Given the description of an element on the screen output the (x, y) to click on. 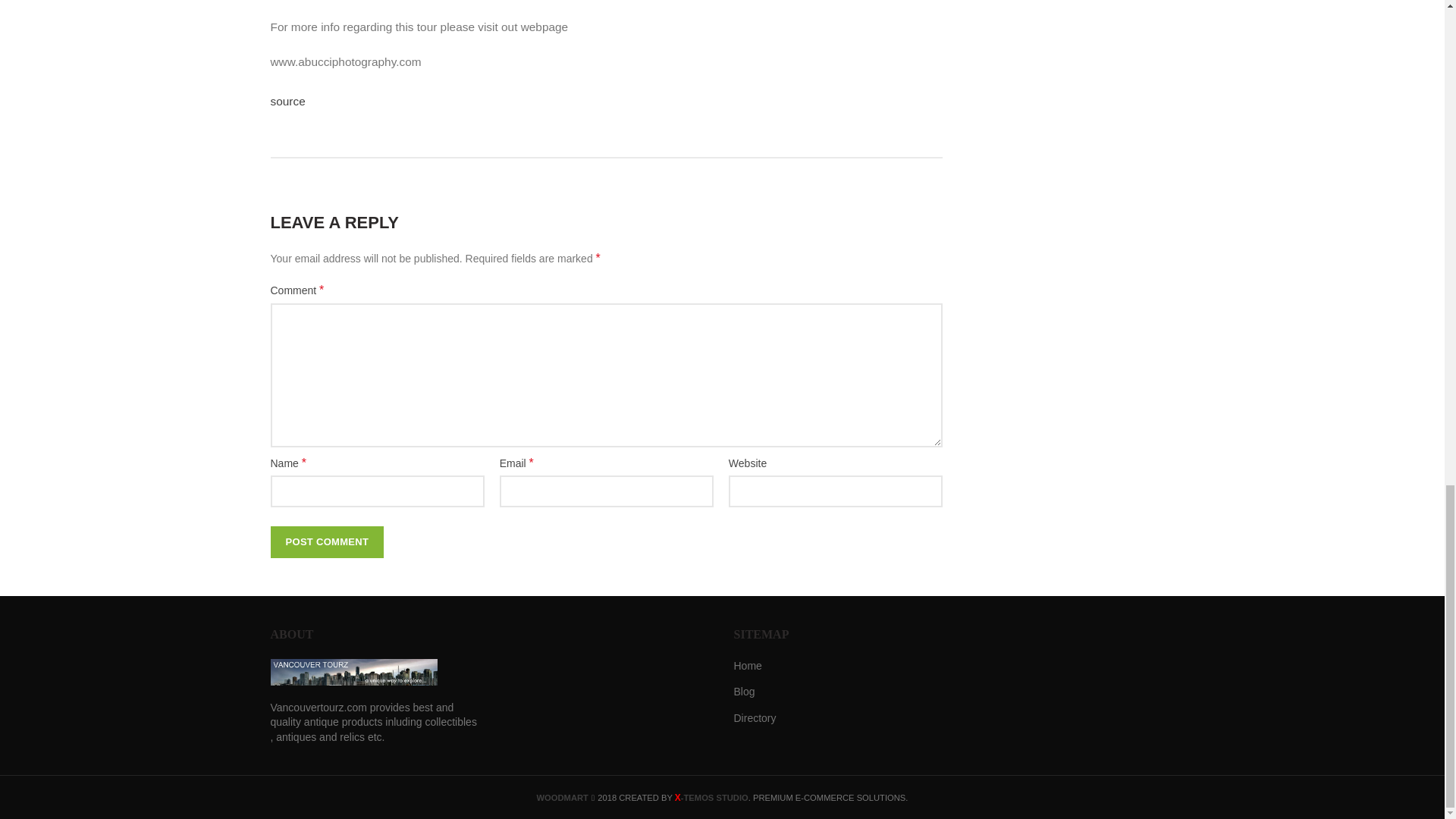
X-TEMOS STUDIO (711, 797)
Directory (755, 718)
Post Comment (326, 541)
Blog (745, 692)
WOODMART (562, 797)
Home (747, 666)
source (286, 101)
Post Comment (326, 541)
